Given the description of an element on the screen output the (x, y) to click on. 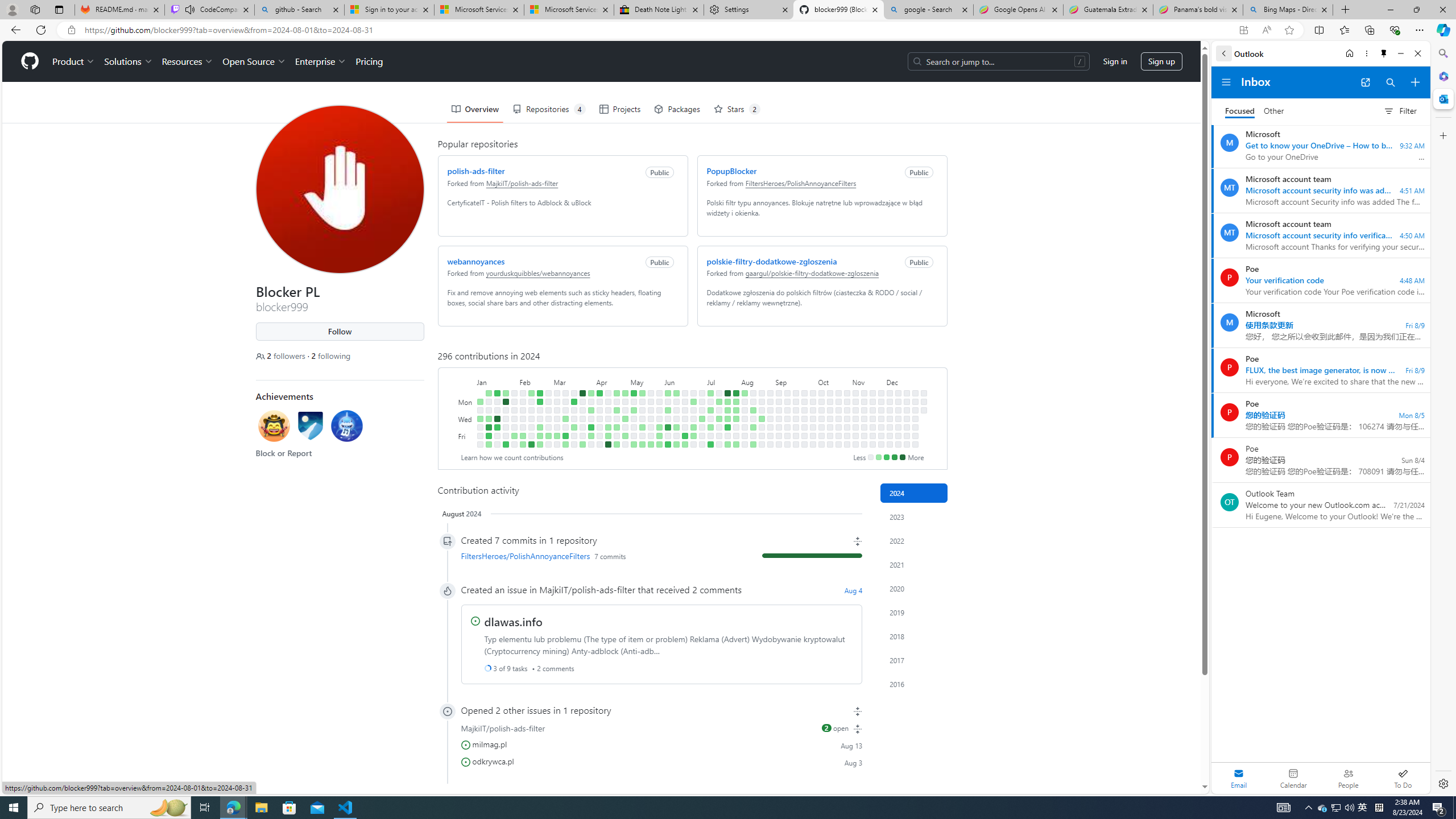
1 contribution on May 3rd. (624, 435)
No contributions on March 25th. (582, 401)
No contributions on March 28th. (582, 427)
No contributions on May 17th. (642, 435)
October (834, 380)
No contributions on January 29th. (513, 401)
2 contributions on May 1st. (624, 418)
No contributions on September 2nd. (777, 401)
odkrywca.pl (492, 760)
23 contributions on January 22nd. (505, 401)
No contributions on November 20th. (872, 418)
MajkiIT/polish-ads-filter (586, 589)
Achievements (283, 395)
